Given the description of an element on the screen output the (x, y) to click on. 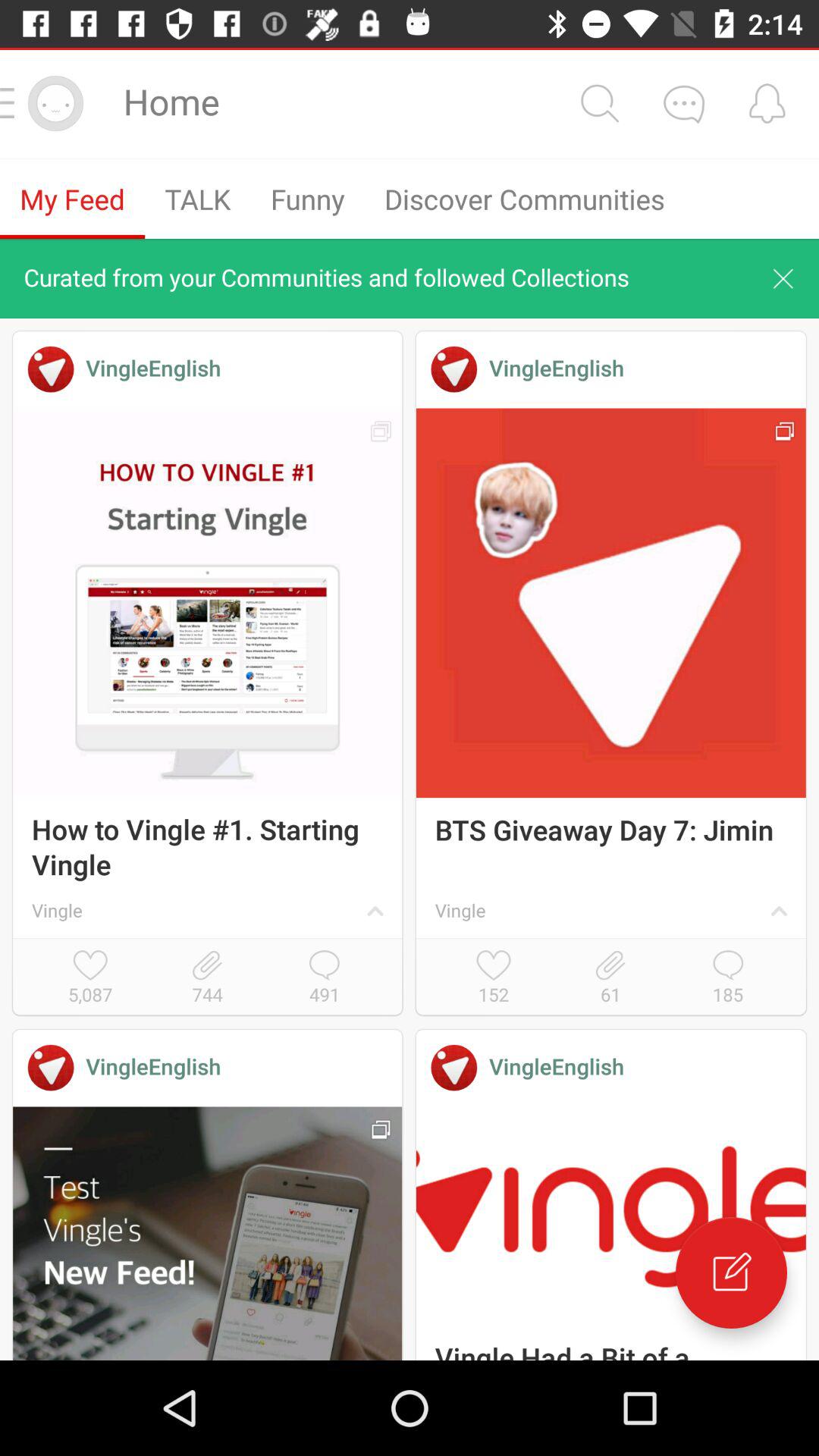
press item to the right of the 61 (728, 978)
